Given the description of an element on the screen output the (x, y) to click on. 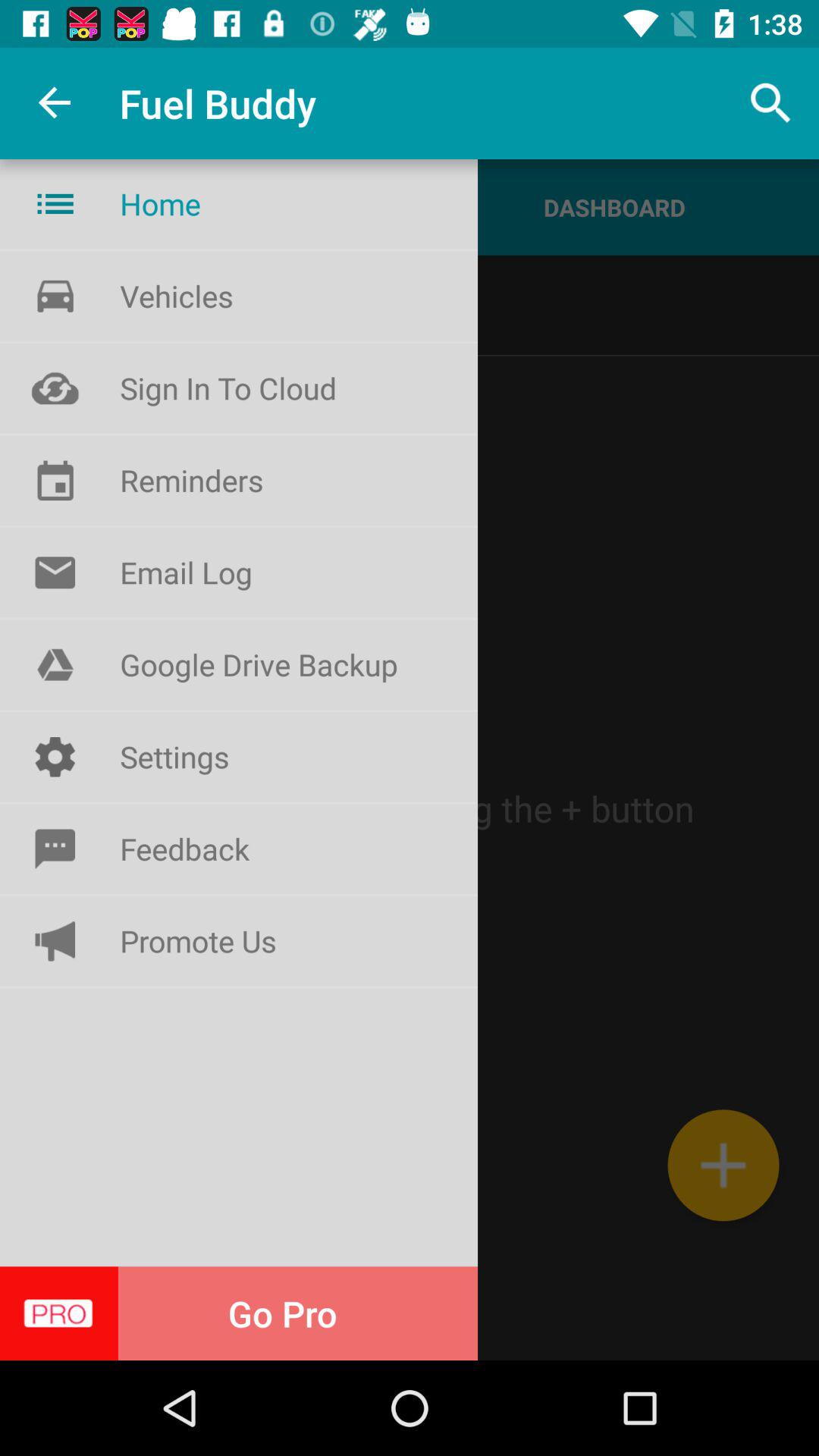
select the symbol beside promote us (55, 940)
select the first icon below fuel buddy (55, 203)
click on the button which is beside the go pro (55, 572)
